Given the description of an element on the screen output the (x, y) to click on. 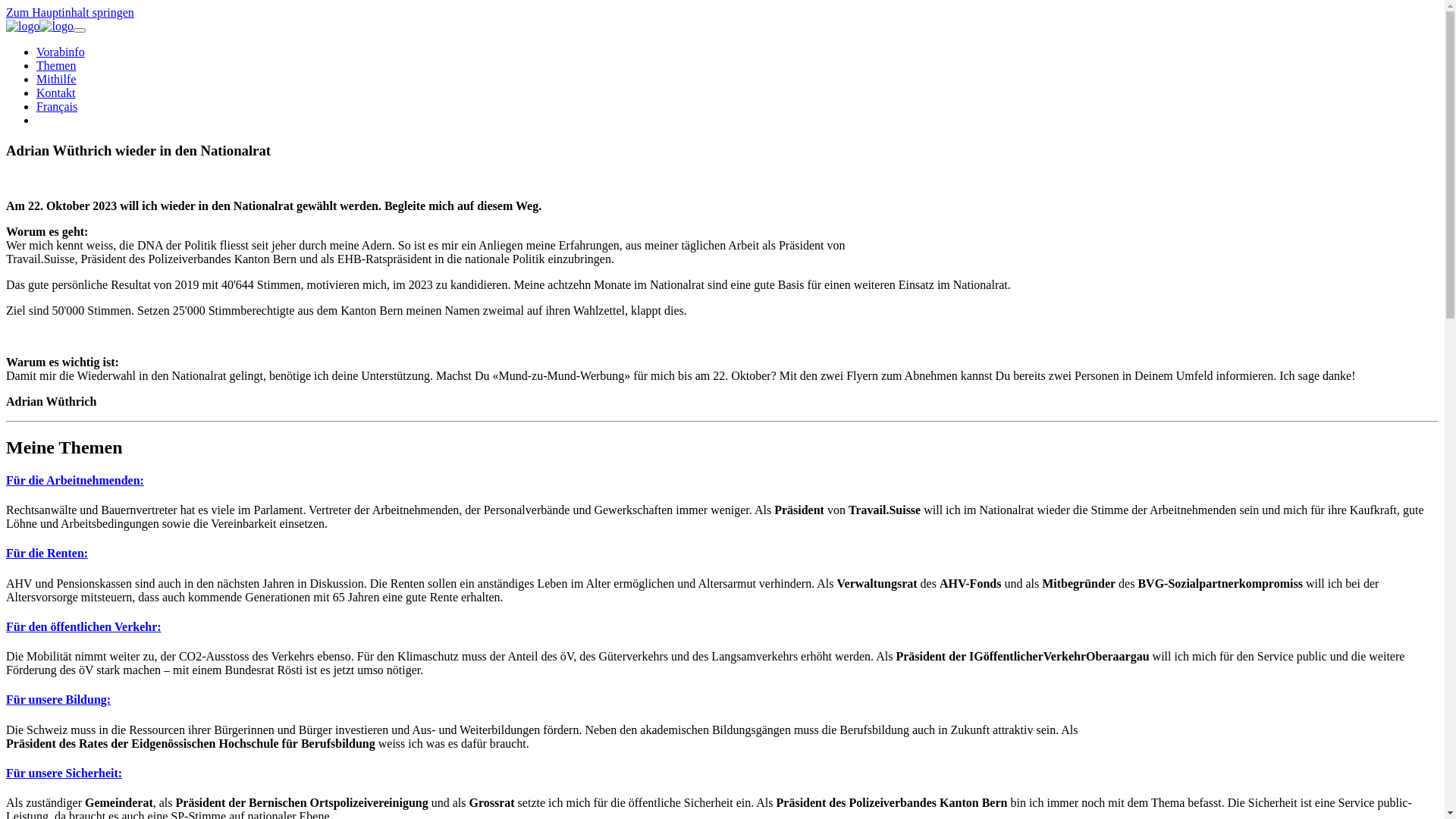
Vorabinfo Element type: text (60, 51)
Mithilfe Element type: text (55, 78)
Zum Hauptinhalt springen Element type: text (70, 12)
Themen Element type: text (55, 65)
Kontakt Element type: text (55, 92)
